Given the description of an element on the screen output the (x, y) to click on. 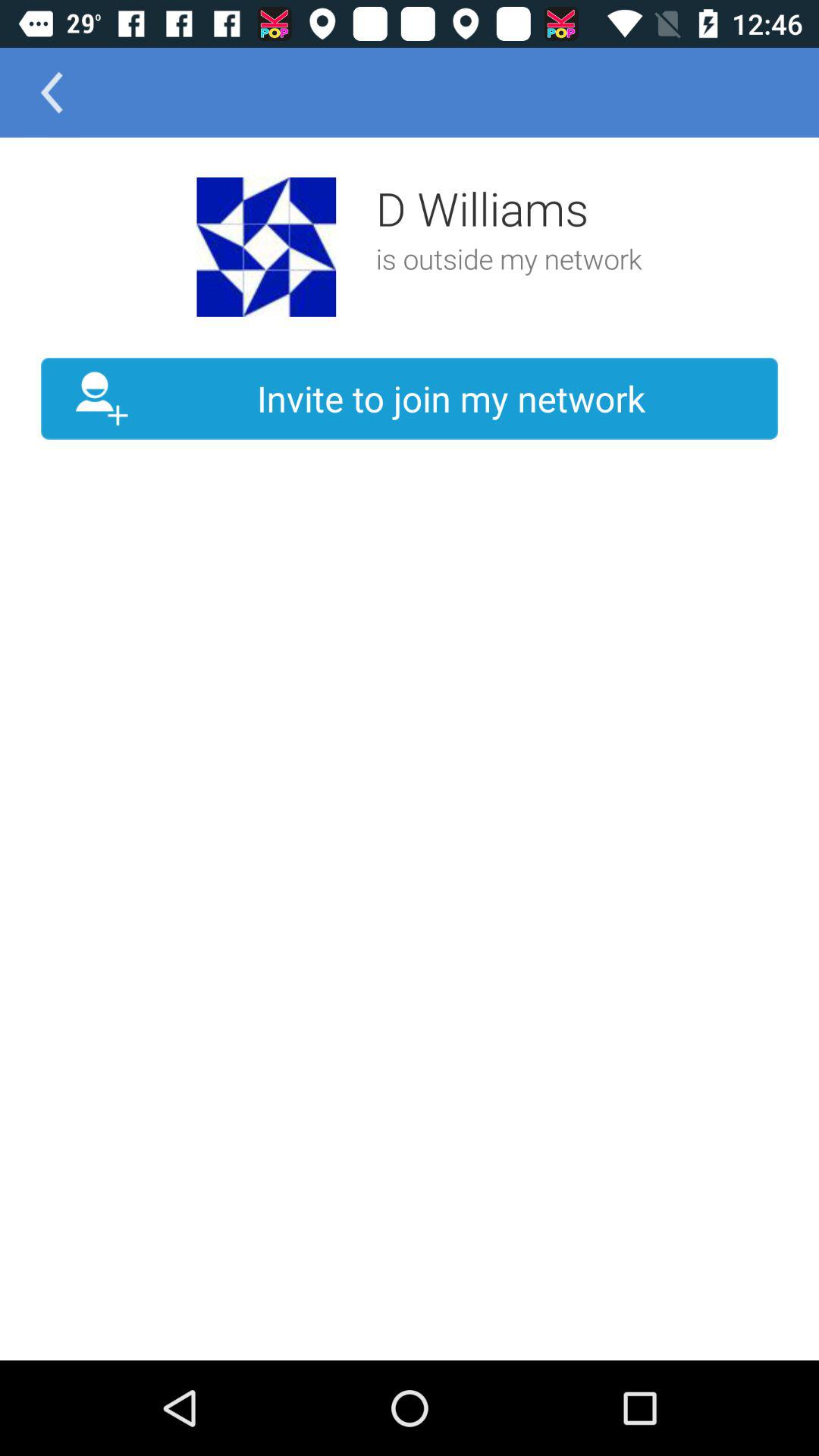
scroll until the invite to join item (409, 398)
